Given the description of an element on the screen output the (x, y) to click on. 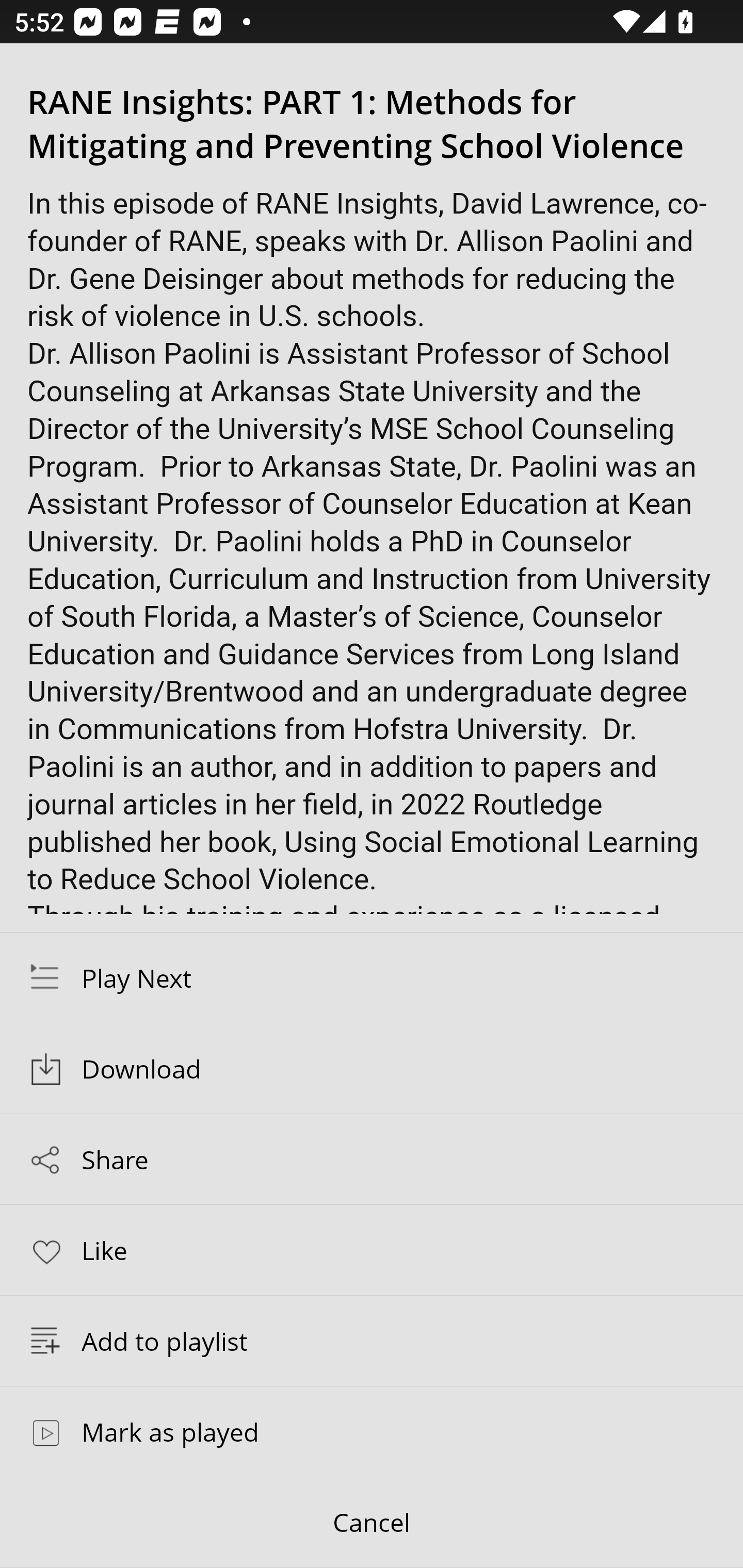
Play Next (371, 977)
Download (371, 1068)
Share (371, 1159)
Like (371, 1249)
Add to playlist (371, 1340)
Mark as played (371, 1431)
Cancel (371, 1522)
